Given the description of an element on the screen output the (x, y) to click on. 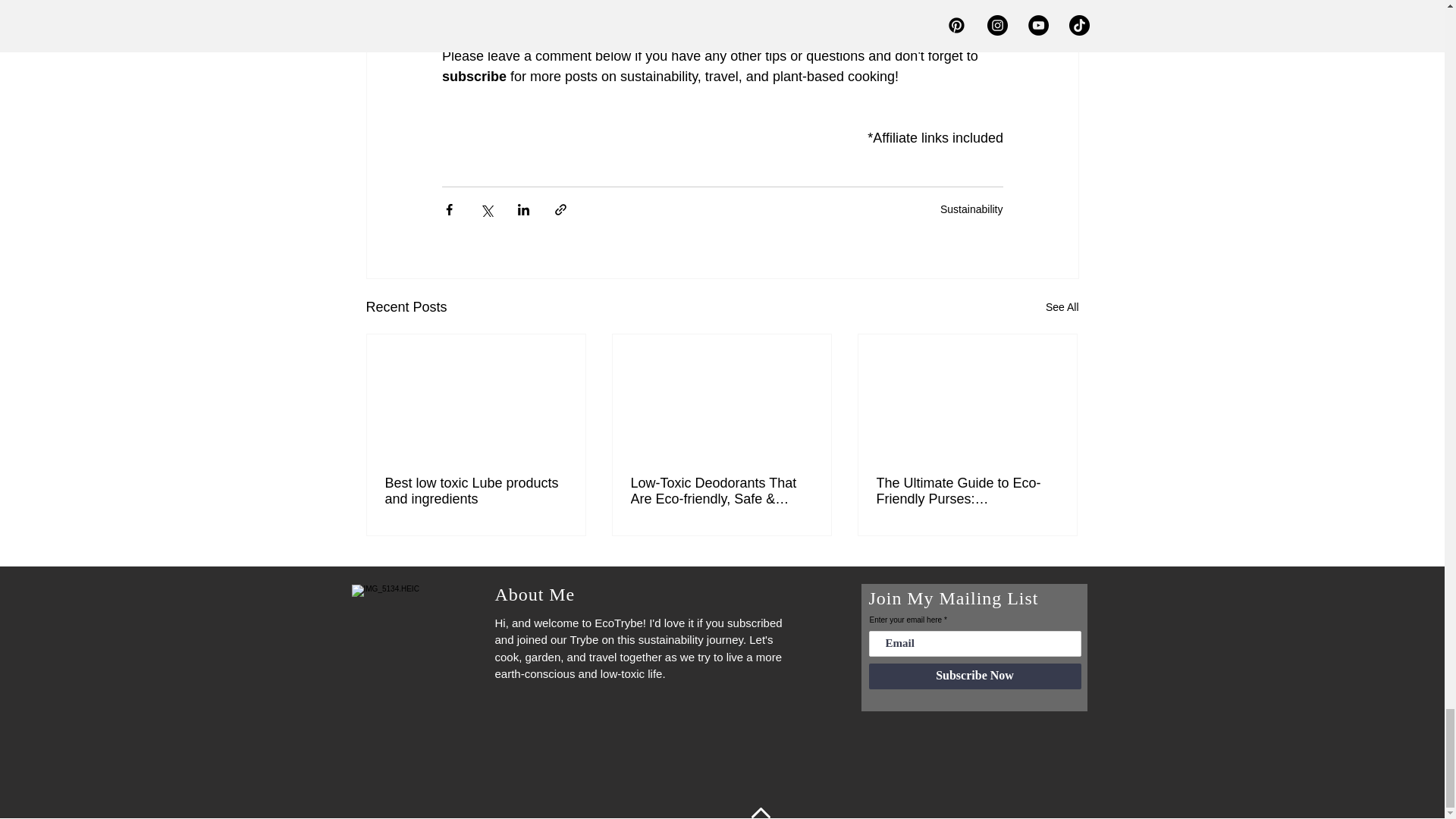
See All (1061, 307)
Sustainability (971, 209)
Best low toxic Lube products and ingredients (476, 490)
